Given the description of an element on the screen output the (x, y) to click on. 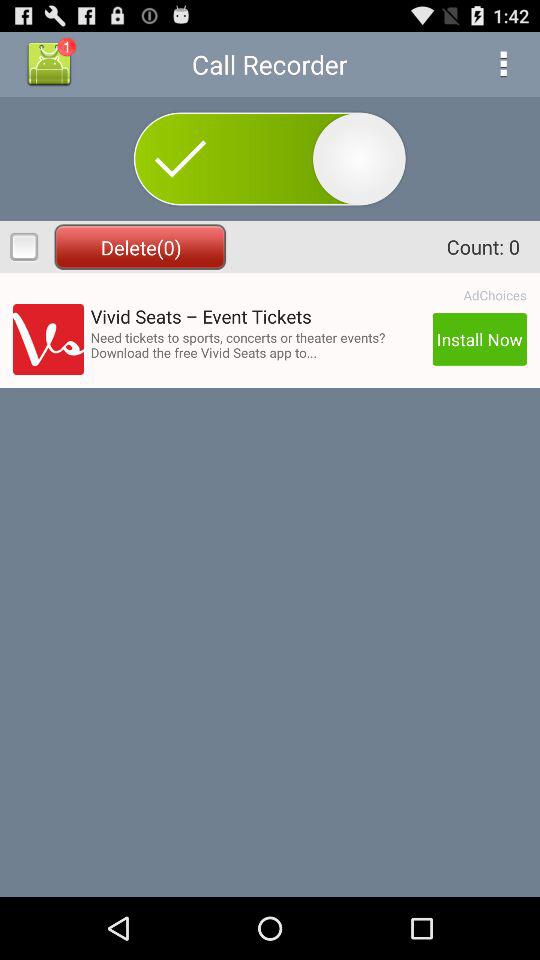
tap the button above delete(0) (49, 63)
